Given the description of an element on the screen output the (x, y) to click on. 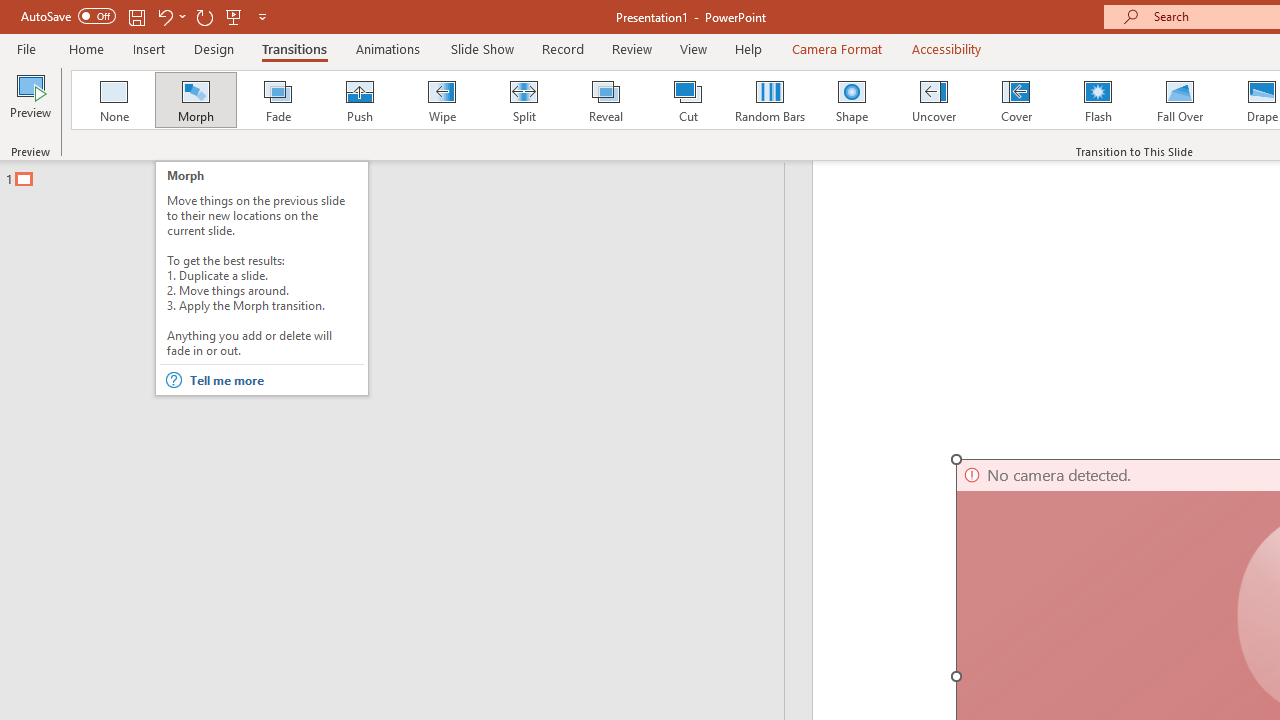
Push (359, 100)
Reveal (605, 100)
Cover (1016, 100)
